Given the description of an element on the screen output the (x, y) to click on. 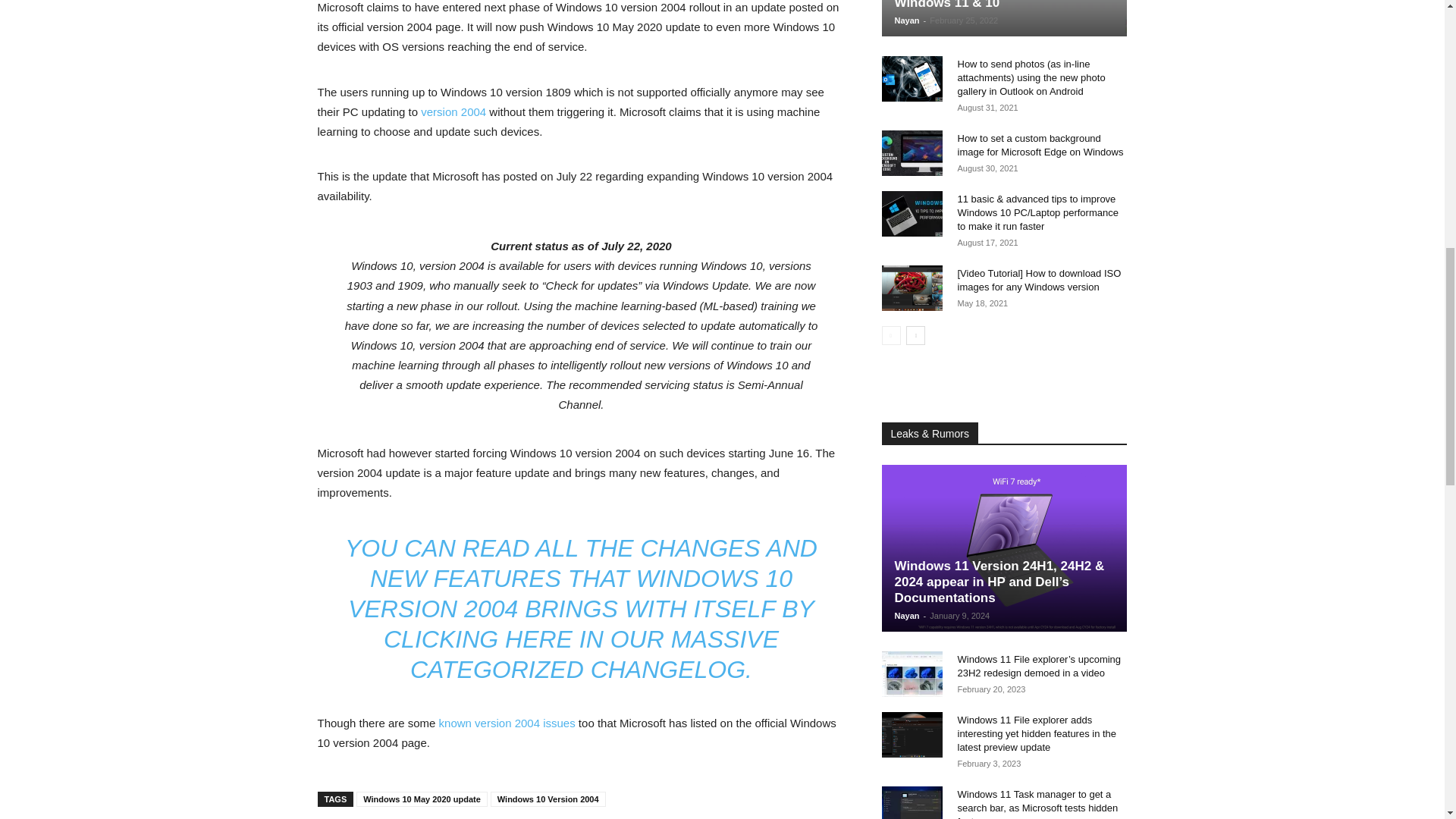
version 2004 (453, 111)
 BY CLICKING HERE (598, 623)
Windows 10 May 2020 update (421, 798)
Windows 10 Version 2004 (547, 798)
known version 2004 issues (507, 722)
